Given the description of an element on the screen output the (x, y) to click on. 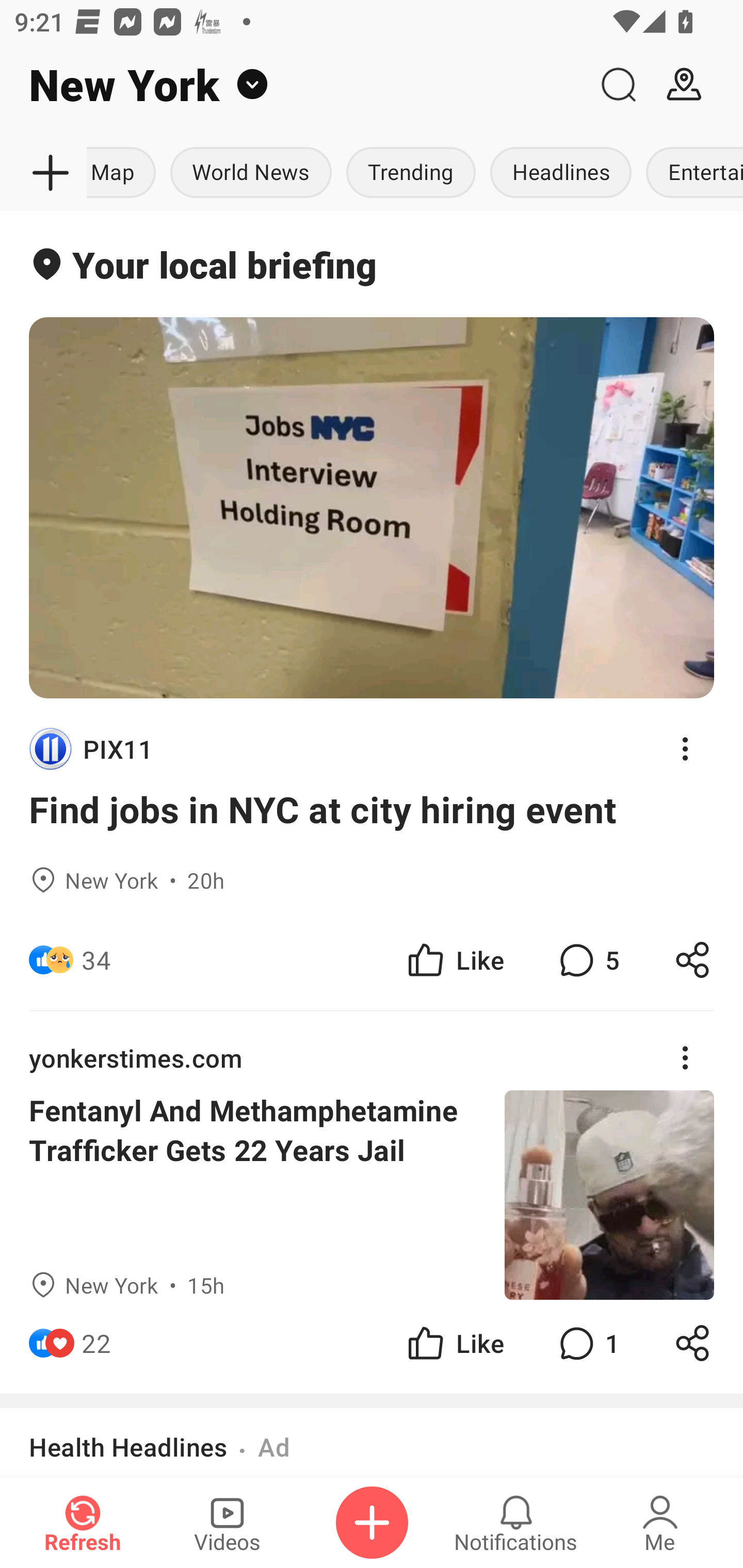
New York (292, 84)
Crime Map (124, 172)
World News (250, 172)
Trending (410, 172)
Headlines (560, 172)
Entertainment (690, 172)
34 (95, 960)
Like (454, 960)
5 (587, 960)
22 (95, 1342)
Like (454, 1342)
1 (587, 1342)
Health Headlines (127, 1447)
Videos (227, 1522)
Notifications (516, 1522)
Me (659, 1522)
